Given the description of an element on the screen output the (x, y) to click on. 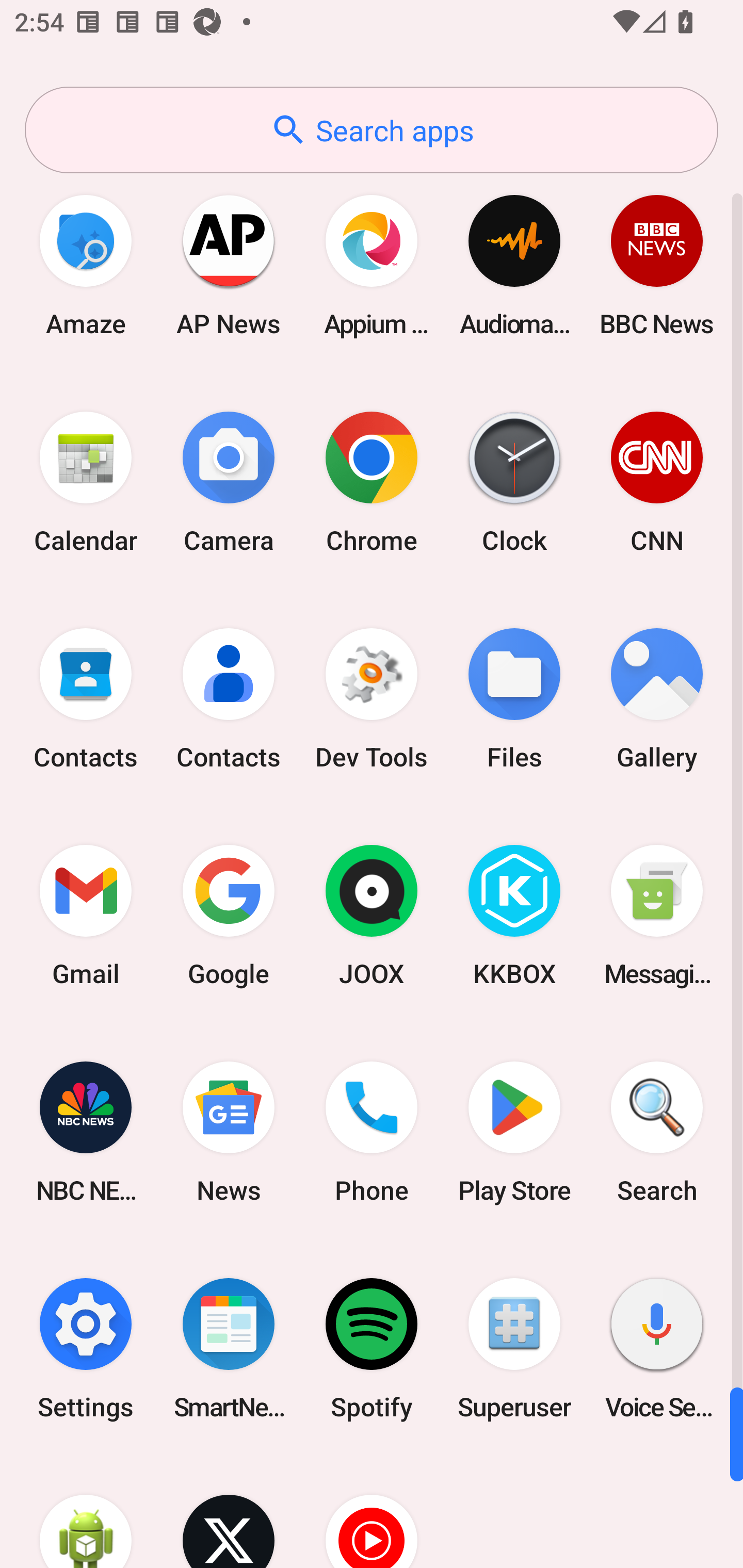
  Search apps (371, 130)
Amaze (85, 264)
AP News (228, 264)
Appium Settings (371, 264)
Audio­mack (514, 264)
BBC News (656, 264)
Calendar (85, 482)
Camera (228, 482)
Chrome (371, 482)
Clock (514, 482)
CNN (656, 482)
Contacts (85, 699)
Contacts (228, 699)
Dev Tools (371, 699)
Files (514, 699)
Gallery (656, 699)
Gmail (85, 915)
Google (228, 915)
JOOX (371, 915)
KKBOX (514, 915)
Messaging (656, 915)
NBC NEWS (85, 1131)
News (228, 1131)
Phone (371, 1131)
Play Store (514, 1131)
Search (656, 1131)
Settings (85, 1348)
SmartNews (228, 1348)
Spotify (371, 1348)
Superuser (514, 1348)
Voice Search (656, 1348)
WebView Browser Tester (85, 1512)
X (228, 1512)
YT Music (371, 1512)
